Given the description of an element on the screen output the (x, y) to click on. 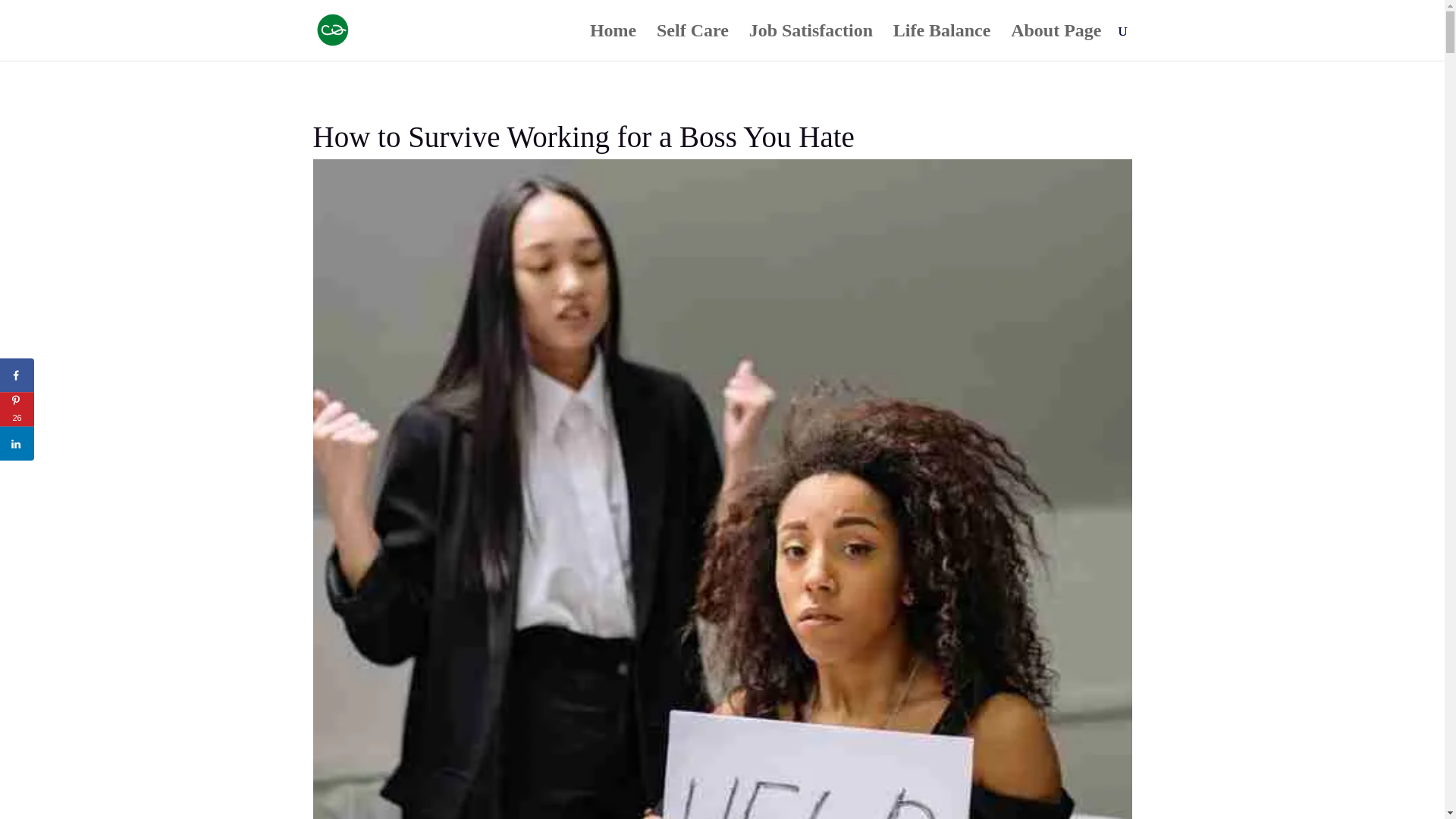
Share on LinkedIn (16, 442)
Save to Pinterest (16, 409)
Life Balance (942, 42)
Share on Facebook (16, 374)
About Page (1055, 42)
26 (16, 409)
Self Care (692, 42)
Job Satisfaction (810, 42)
Home (612, 42)
